Given the description of an element on the screen output the (x, y) to click on. 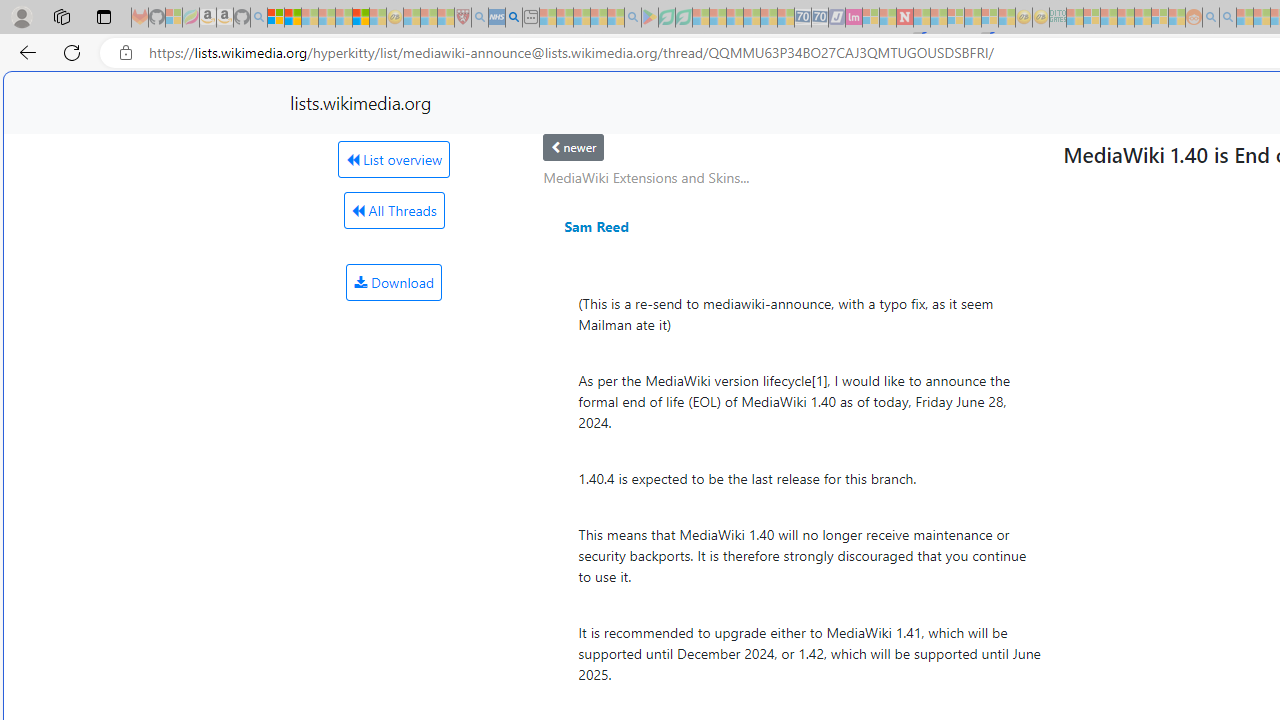
Jobs - lastminute.com Investor Portal - Sleeping (853, 17)
Latest Politics News & Archive | Newsweek.com - Sleeping (904, 17)
Pets - MSN - Sleeping (598, 17)
